Given the description of an element on the screen output the (x, y) to click on. 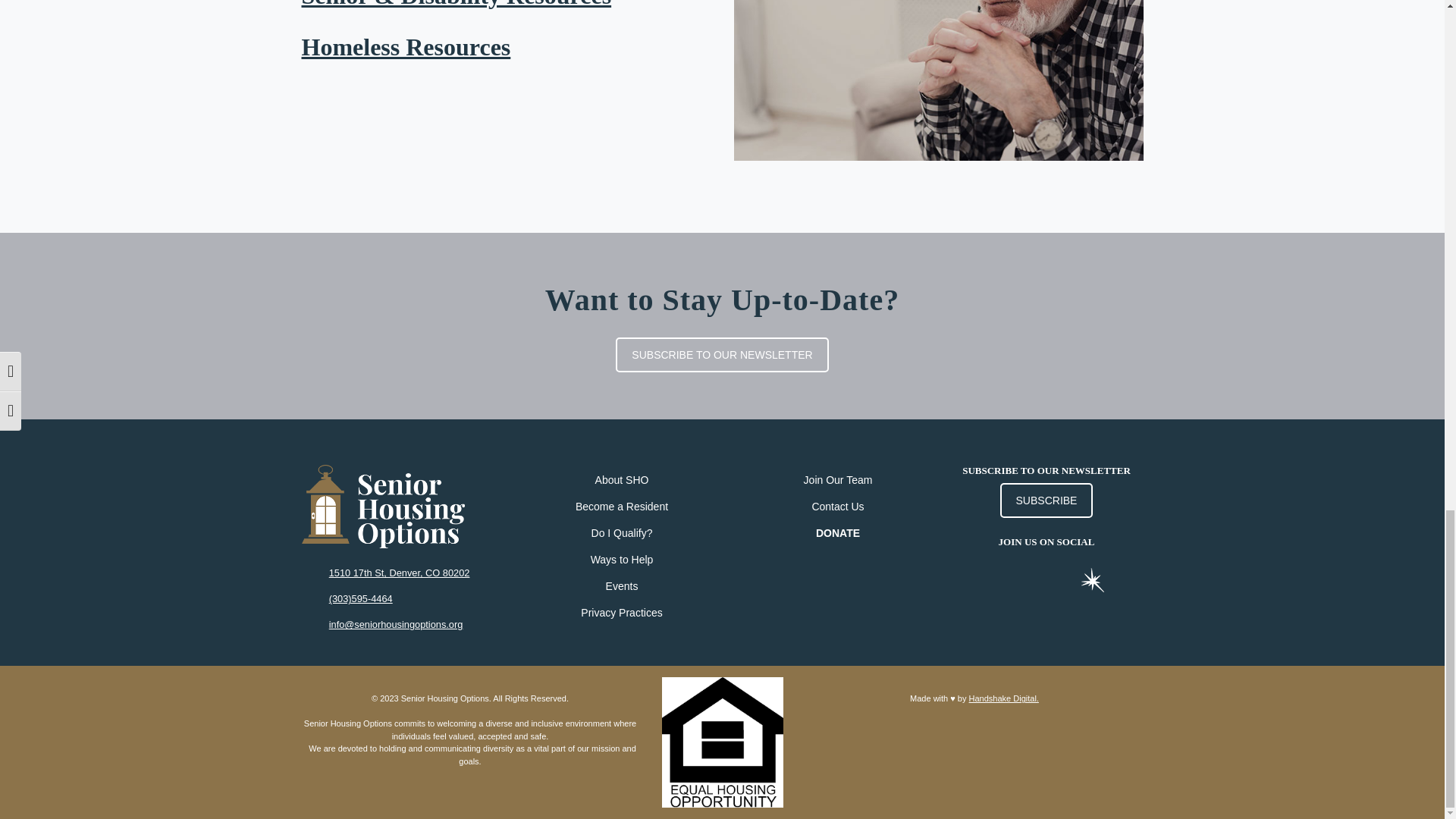
1510 17th St, Denver, CO 80202 (399, 572)
Homeless Resources (406, 46)
Become a Resident (621, 506)
SUBSCRIBE TO OUR NEWSLETTER (721, 354)
About SHO (622, 480)
